Given the description of an element on the screen output the (x, y) to click on. 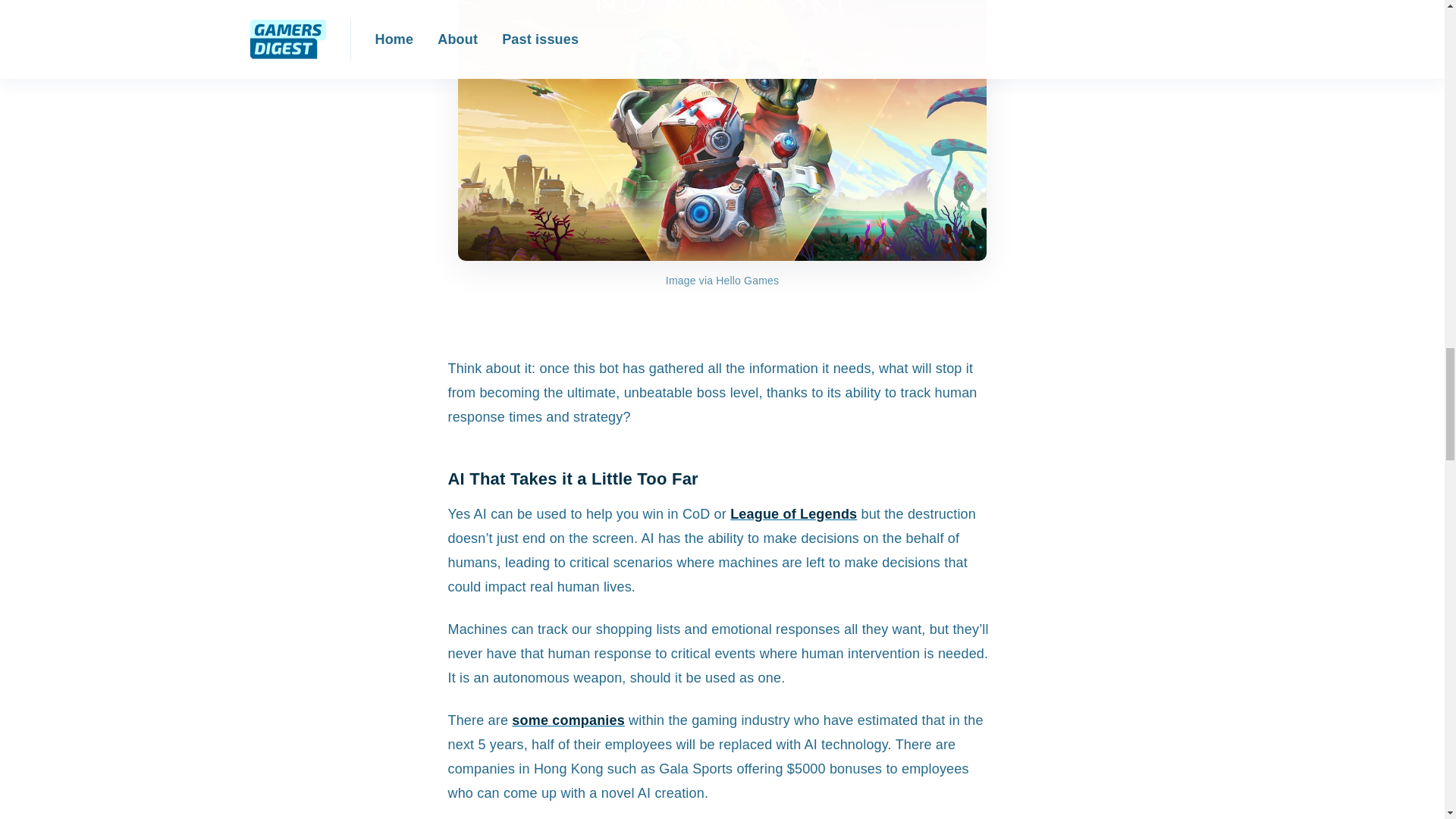
some companies (568, 720)
League of Legends (793, 513)
